Given the description of an element on the screen output the (x, y) to click on. 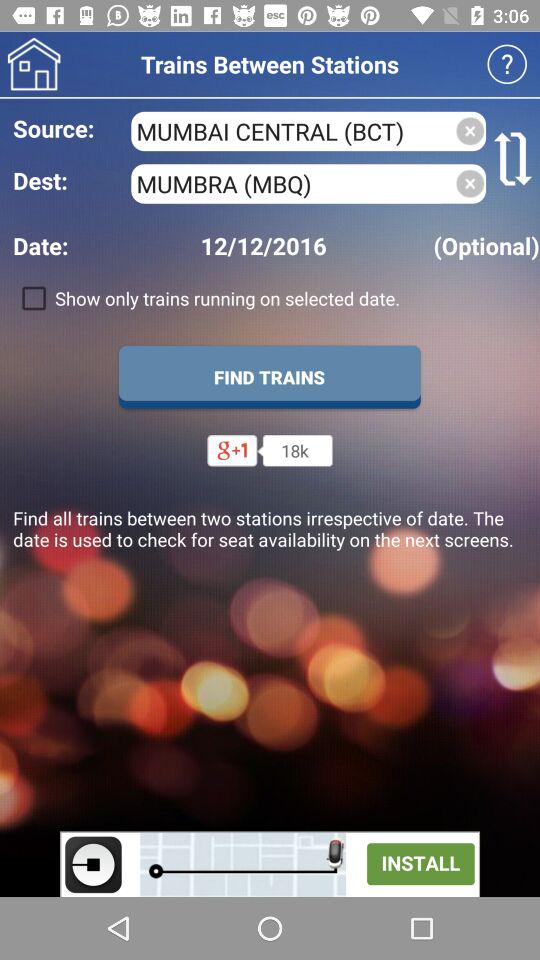
go home (33, 63)
